Given the description of an element on the screen output the (x, y) to click on. 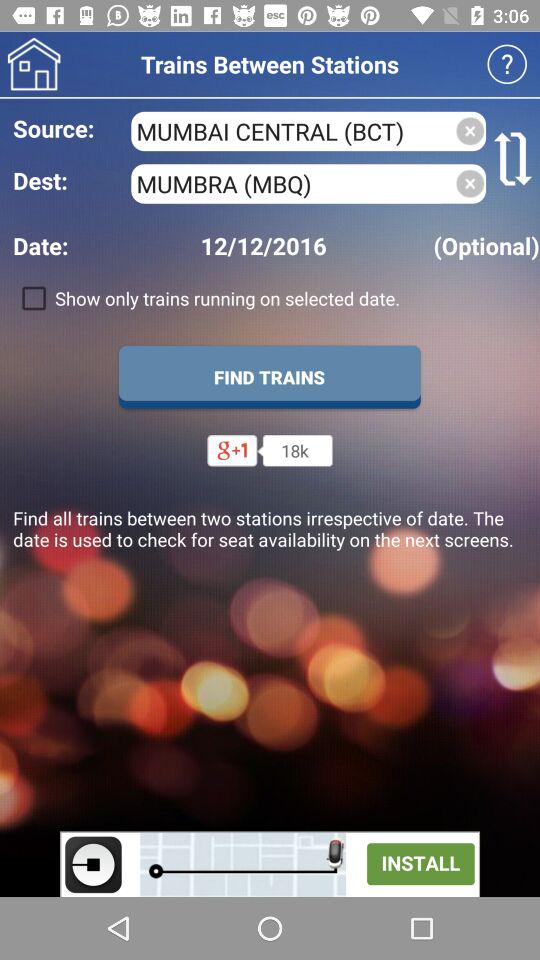
go home (33, 63)
